Given the description of an element on the screen output the (x, y) to click on. 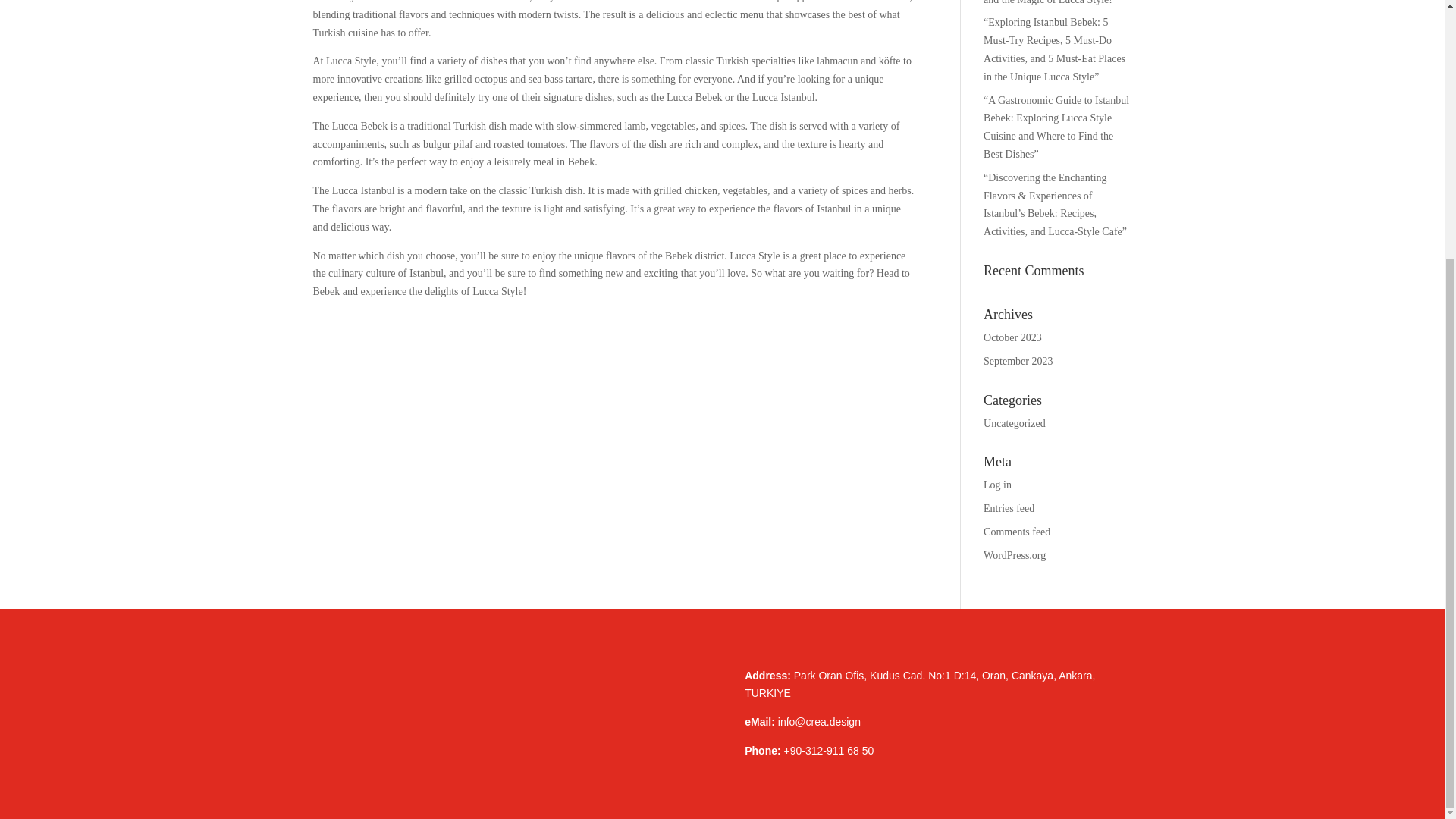
October 2023 (1013, 337)
WordPress.org (1014, 555)
Log in (997, 484)
Comments feed (1016, 531)
Uncategorized (1014, 423)
September 2023 (1018, 360)
Entries feed (1008, 508)
